Given the description of an element on the screen output the (x, y) to click on. 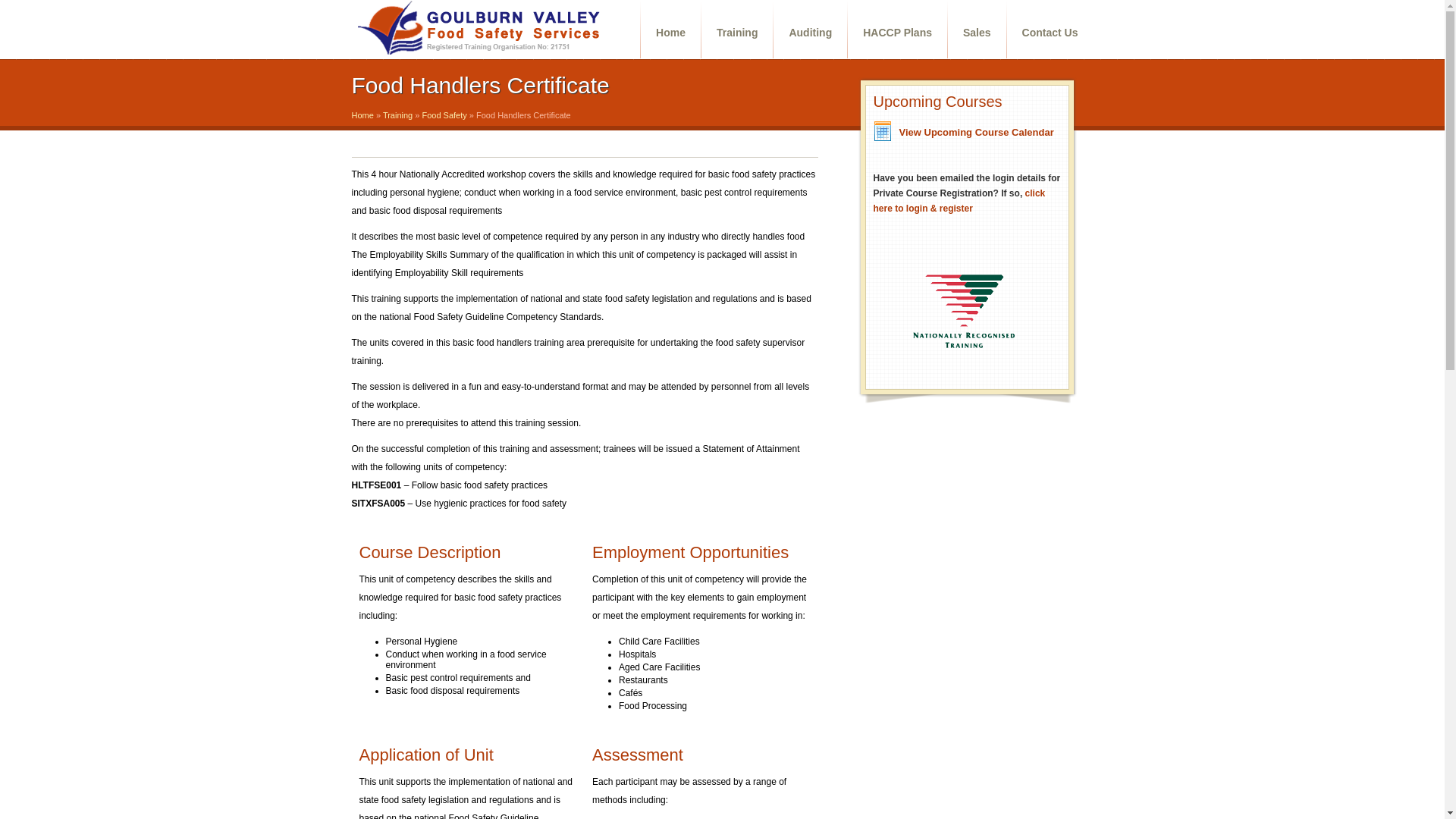
Home Element type: text (670, 32)
click here to login & register Element type: text (959, 200)
Training Element type: text (397, 114)
Auditing Element type: text (810, 32)
View Upcoming Course Calendar Element type: text (976, 132)
Food Safety Element type: text (443, 114)
Training Element type: text (736, 32)
Sales Element type: text (976, 32)
HACCP Plans Element type: text (897, 32)
Home Element type: text (362, 114)
Contact Us Element type: text (1050, 32)
